Given the description of an element on the screen output the (x, y) to click on. 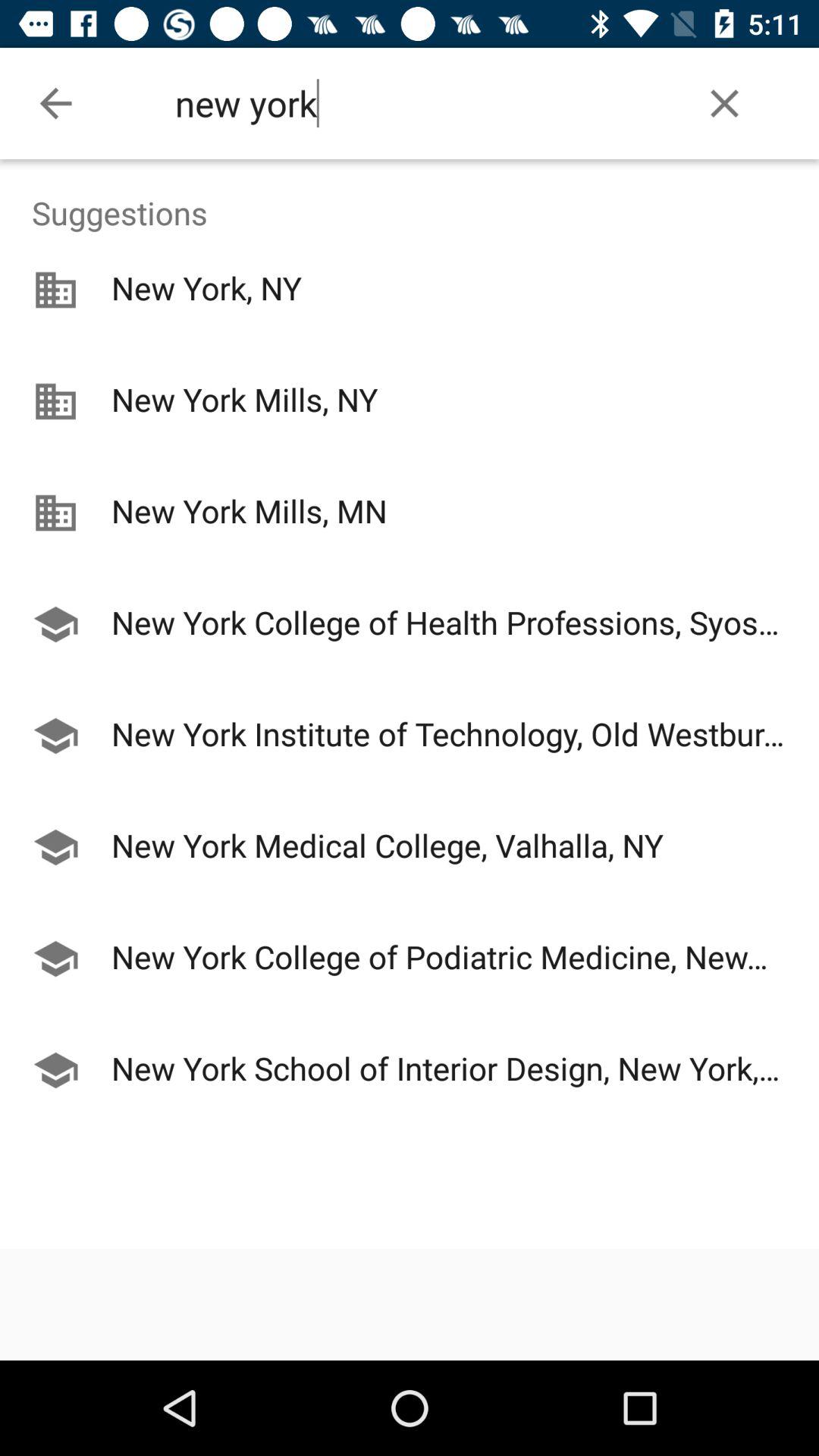
turn on icon next to new york icon (724, 103)
